Given the description of an element on the screen output the (x, y) to click on. 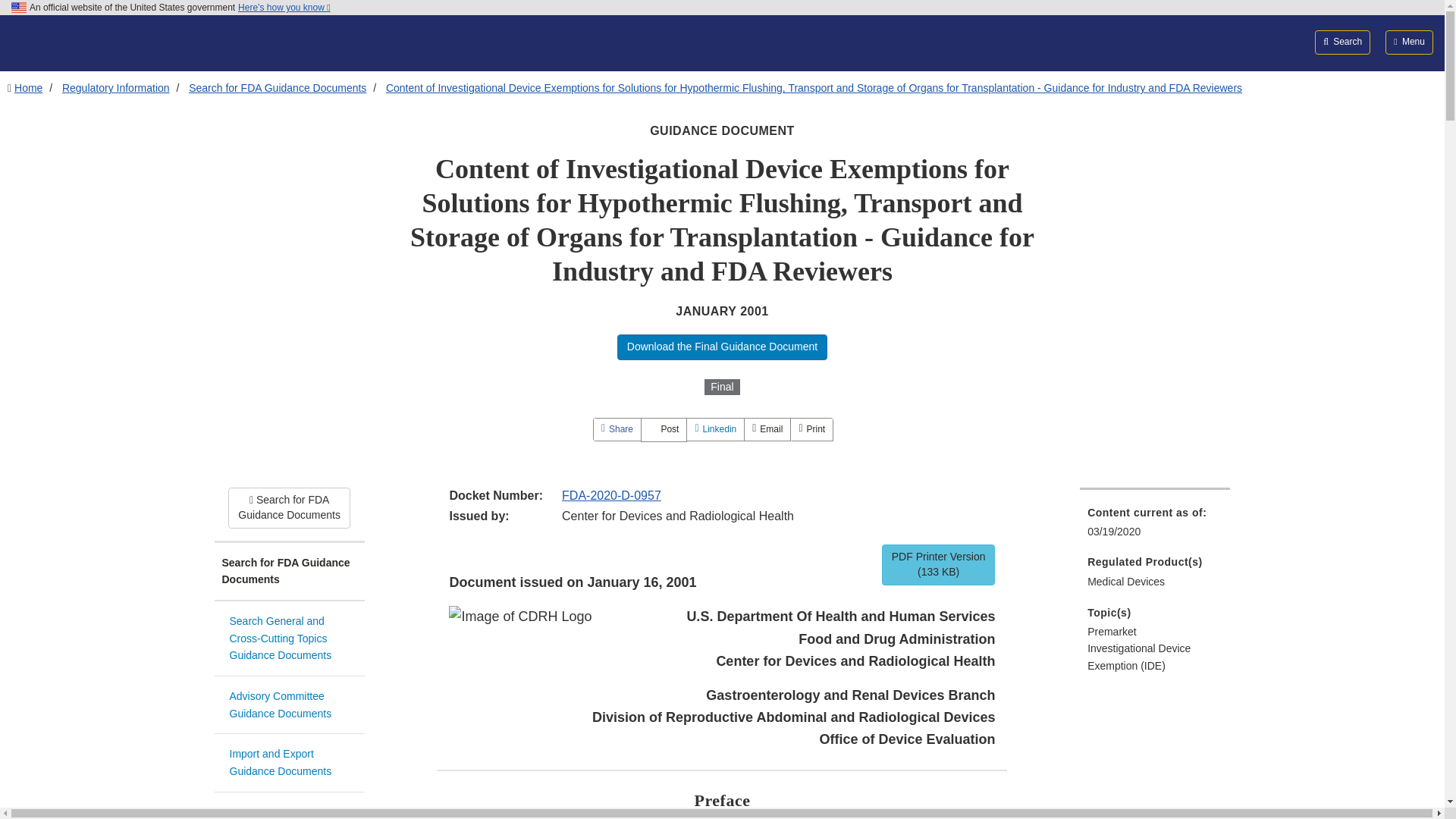
Image of CDRH logo (519, 617)
Search for FDA Guidance Documents (289, 571)
Print this page (811, 429)
  Search (1342, 42)
  Menu (1409, 42)
